Given the description of an element on the screen output the (x, y) to click on. 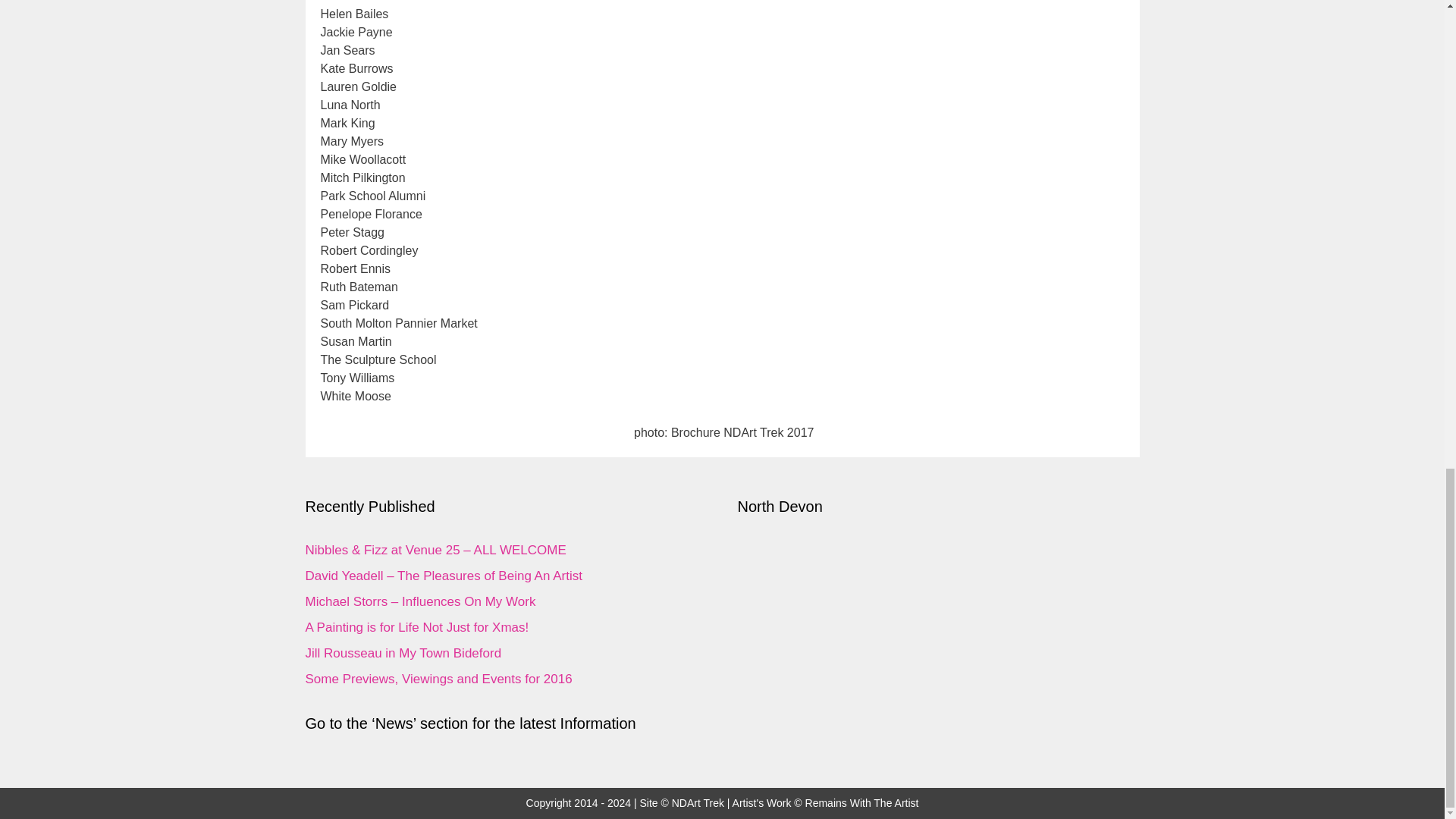
Scroll back to top (1406, 433)
Some Previews, Viewings and Events for 2016 (438, 678)
A Painting is for Life Not Just for Xmas! (416, 626)
Jill Rousseau in My Town Bideford (402, 653)
